Given the description of an element on the screen output the (x, y) to click on. 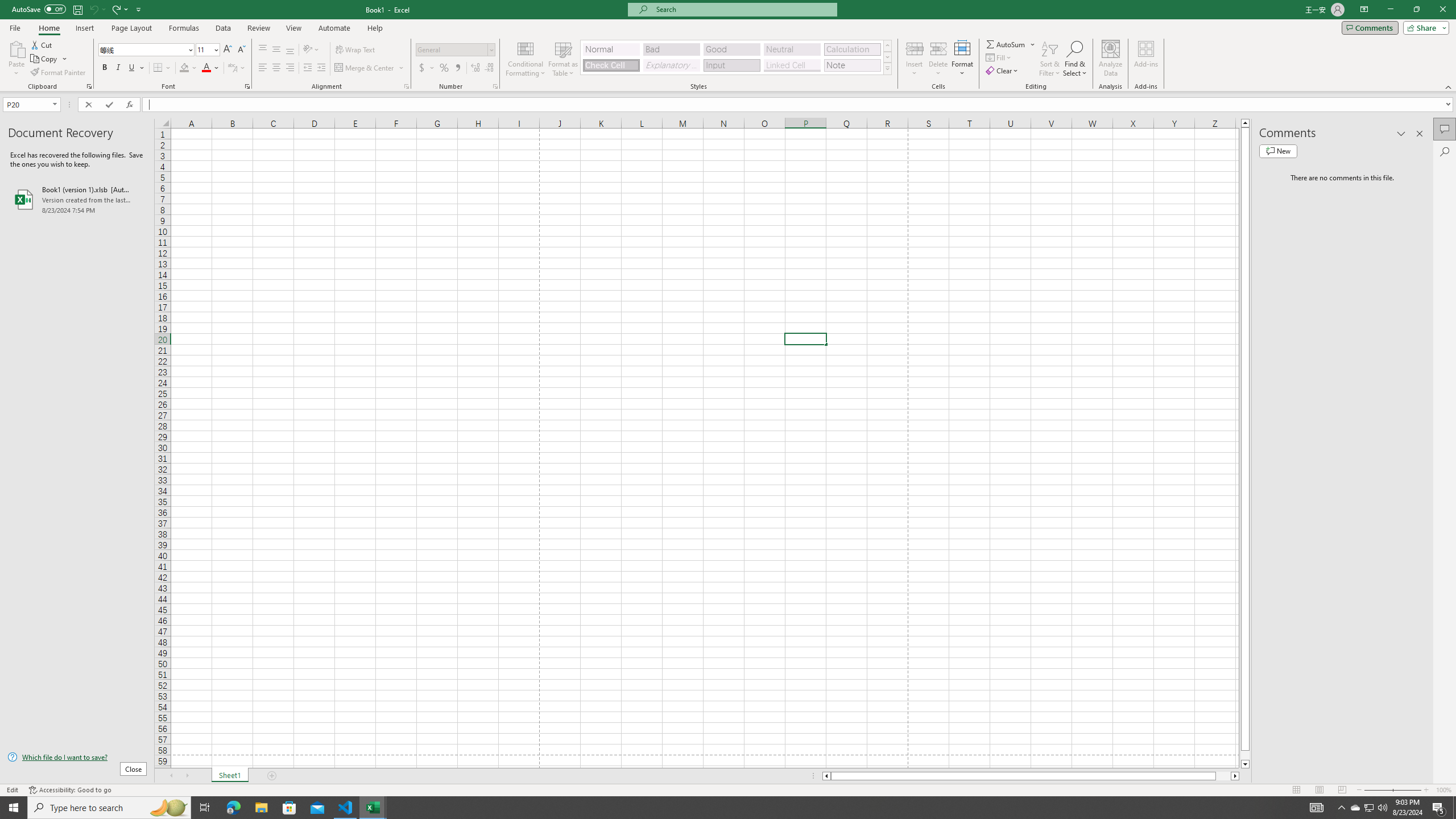
Automate (334, 28)
Quick Access Toolbar (77, 9)
Line down (1245, 764)
Normal (611, 49)
Format as Table (563, 58)
